Given the description of an element on the screen output the (x, y) to click on. 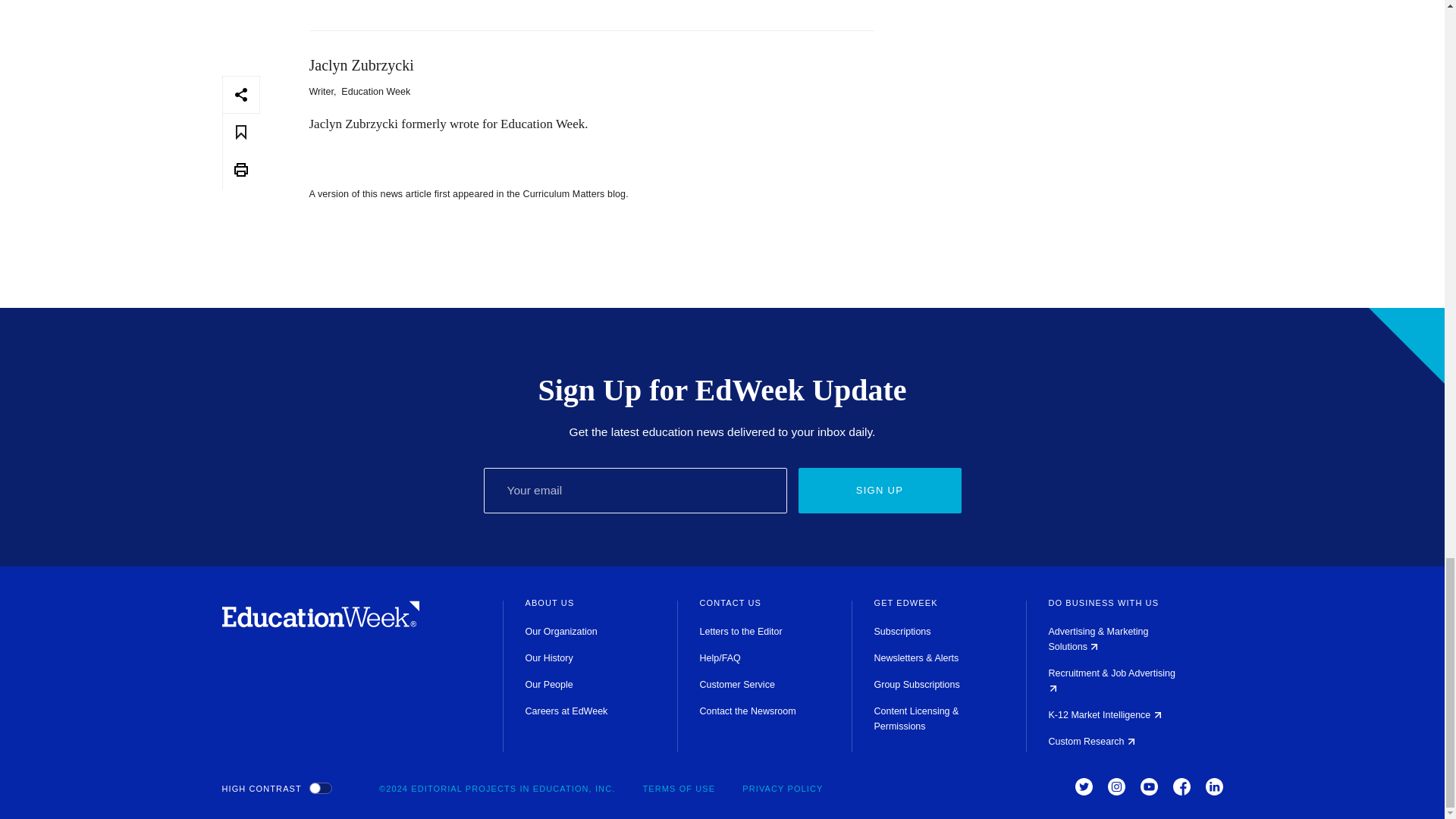
Homepage (320, 623)
